Given the description of an element on the screen output the (x, y) to click on. 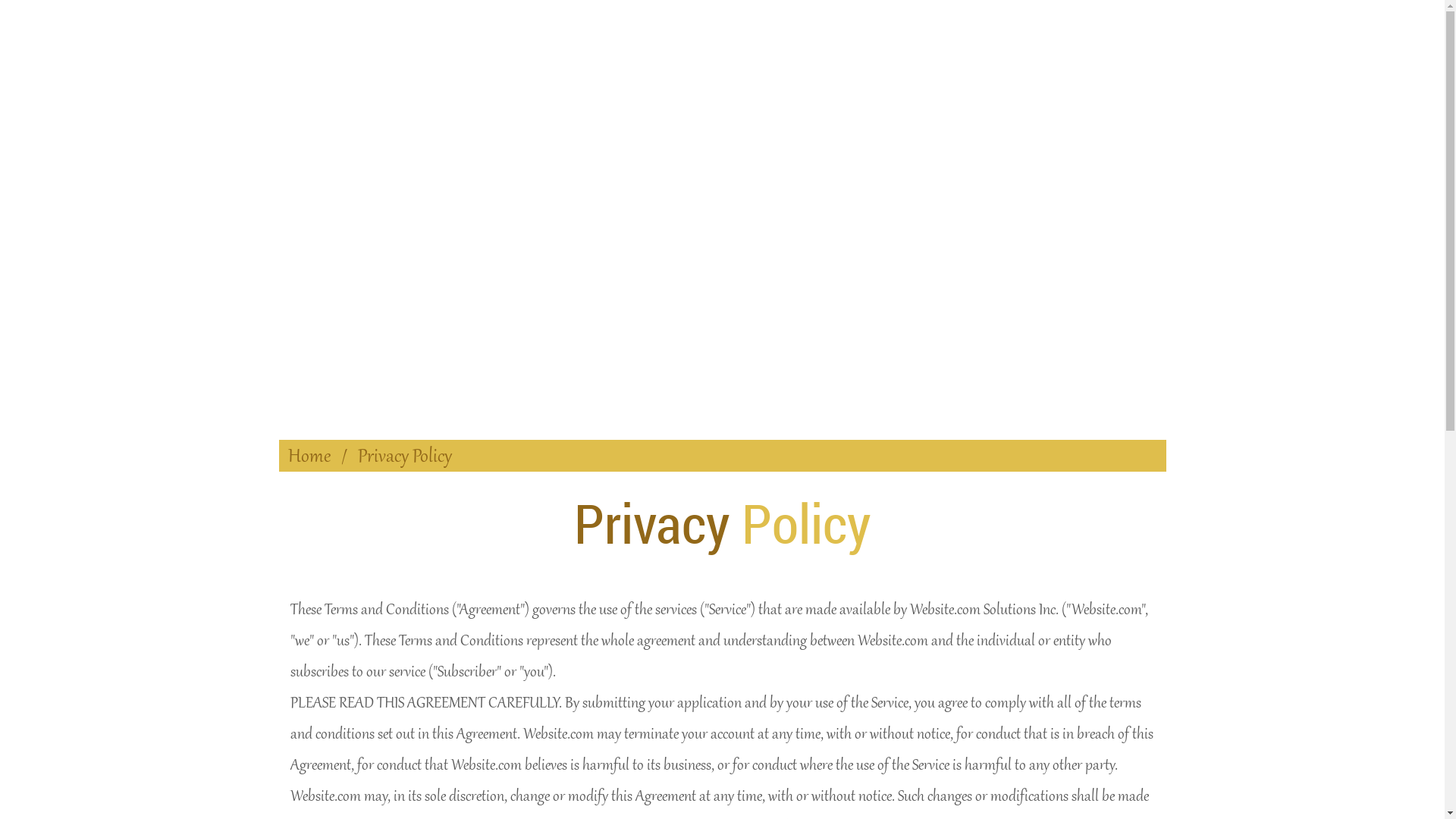
Home Element type: text (309, 454)
Privacy Policy Element type: text (404, 454)
